Given the description of an element on the screen output the (x, y) to click on. 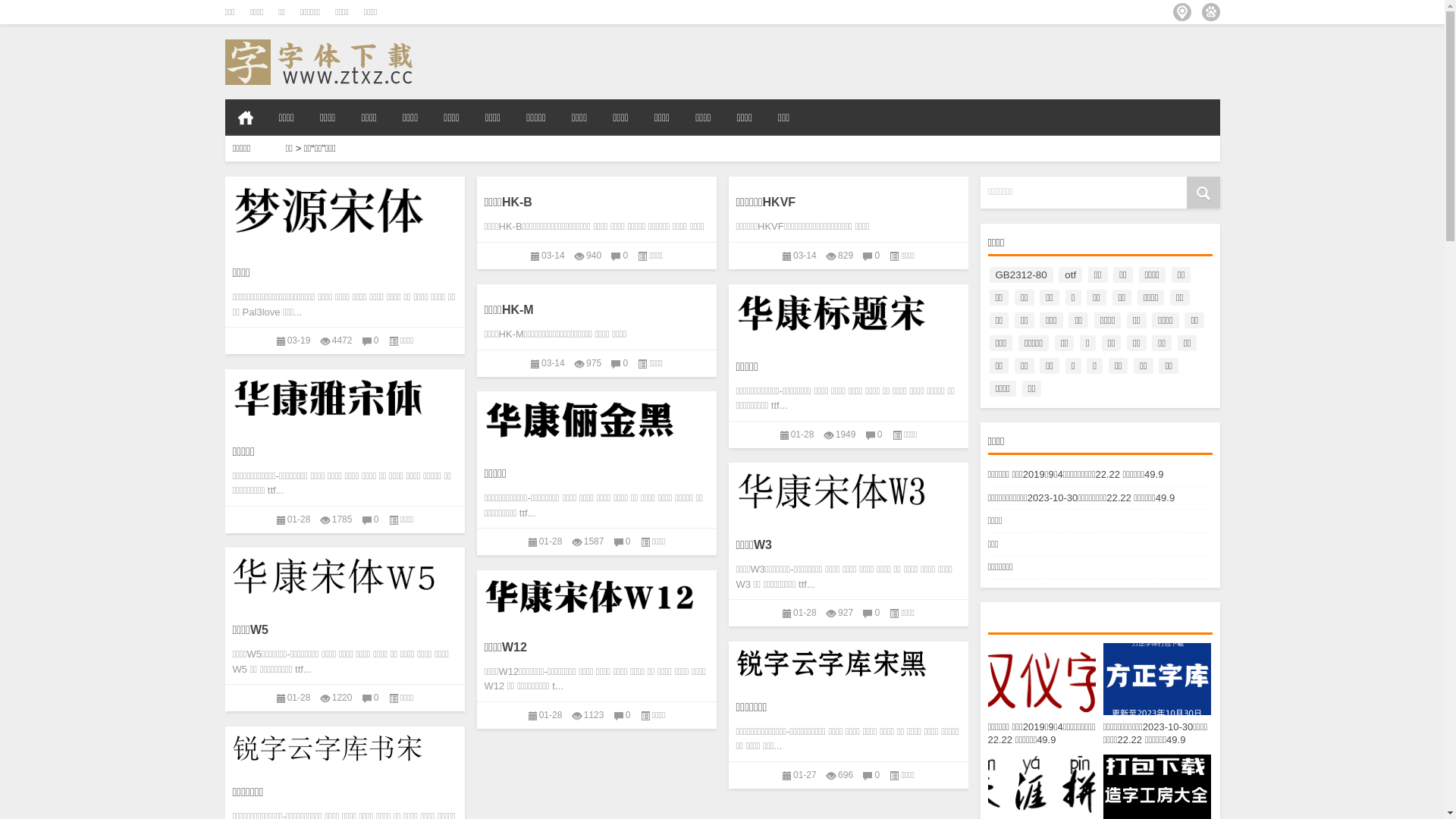
0 Element type: text (879, 434)
0 Element type: text (627, 541)
GB2312-80 Element type: text (1020, 274)
0 Element type: text (376, 697)
0 Element type: text (627, 714)
0 Element type: text (624, 255)
0 Element type: text (876, 255)
otf Element type: text (1070, 274)
Advertisement Element type: hover (1041, 61)
0 Element type: text (376, 519)
0 Element type: text (876, 773)
0 Element type: text (624, 362)
0 Element type: text (376, 340)
0 Element type: text (876, 612)
